Given the description of an element on the screen output the (x, y) to click on. 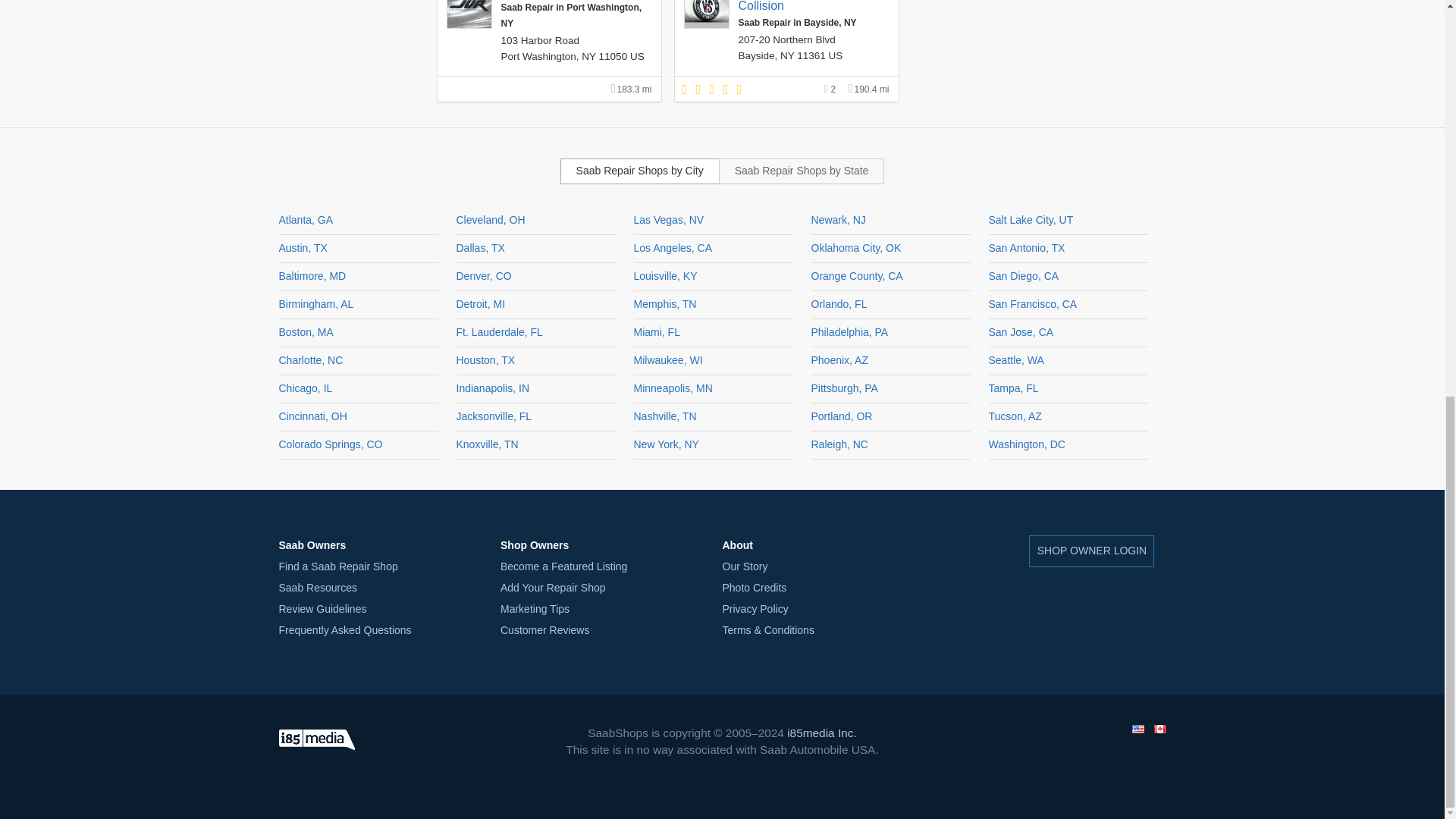
Ft. Lauderdale, FL (500, 331)
Charlotte, NC (311, 359)
Birmingham, AL (316, 304)
Dallas, TX (481, 247)
Austin, TX (303, 247)
SaabShops Canada (1160, 728)
Atlanta, GA (306, 219)
Cincinnati, OH (313, 416)
New York (787, 55)
Boston, MA (306, 331)
